Given the description of an element on the screen output the (x, y) to click on. 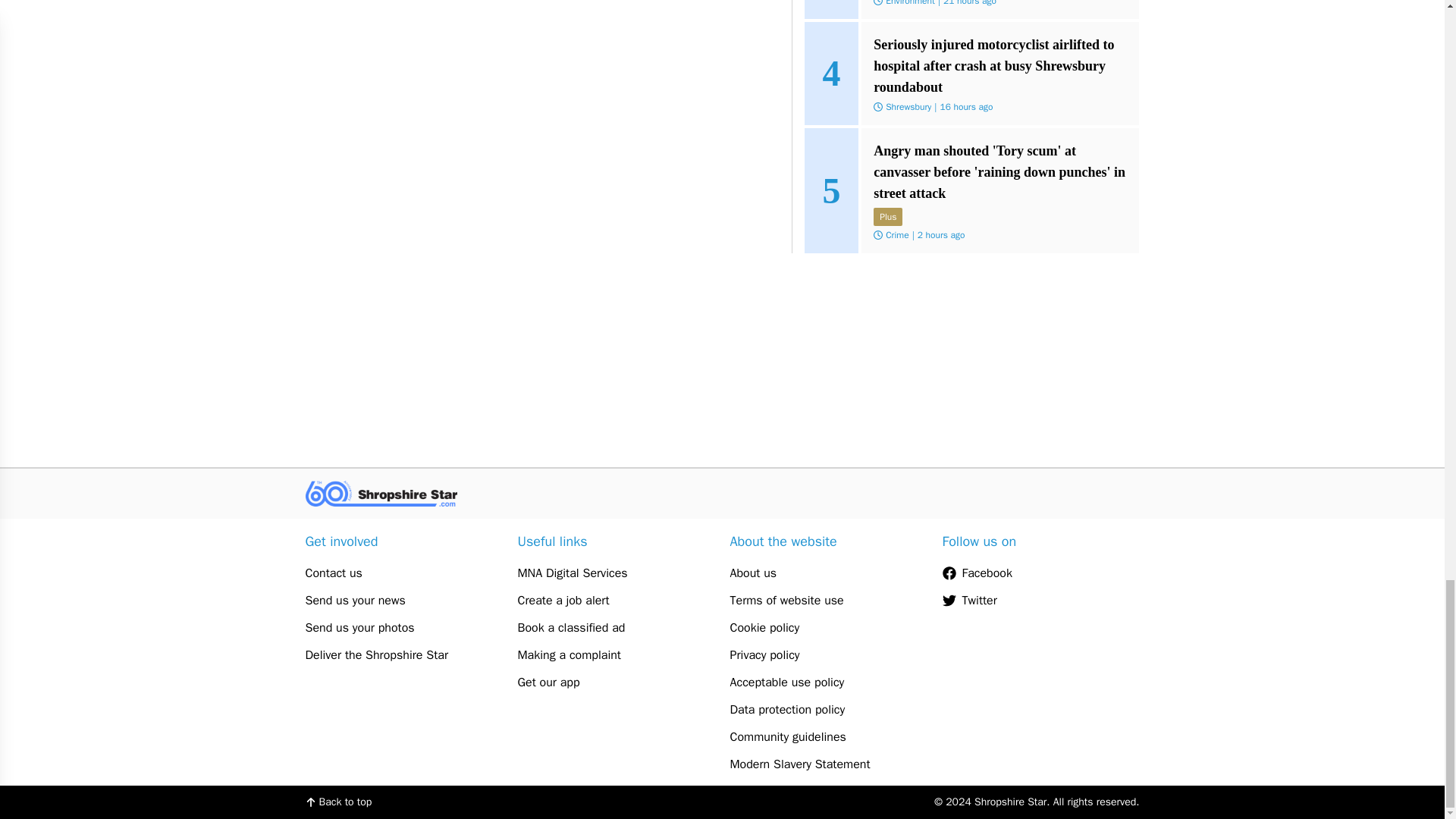
Shrewsbury (908, 106)
Environment (909, 3)
Crime (896, 234)
